Given the description of an element on the screen output the (x, y) to click on. 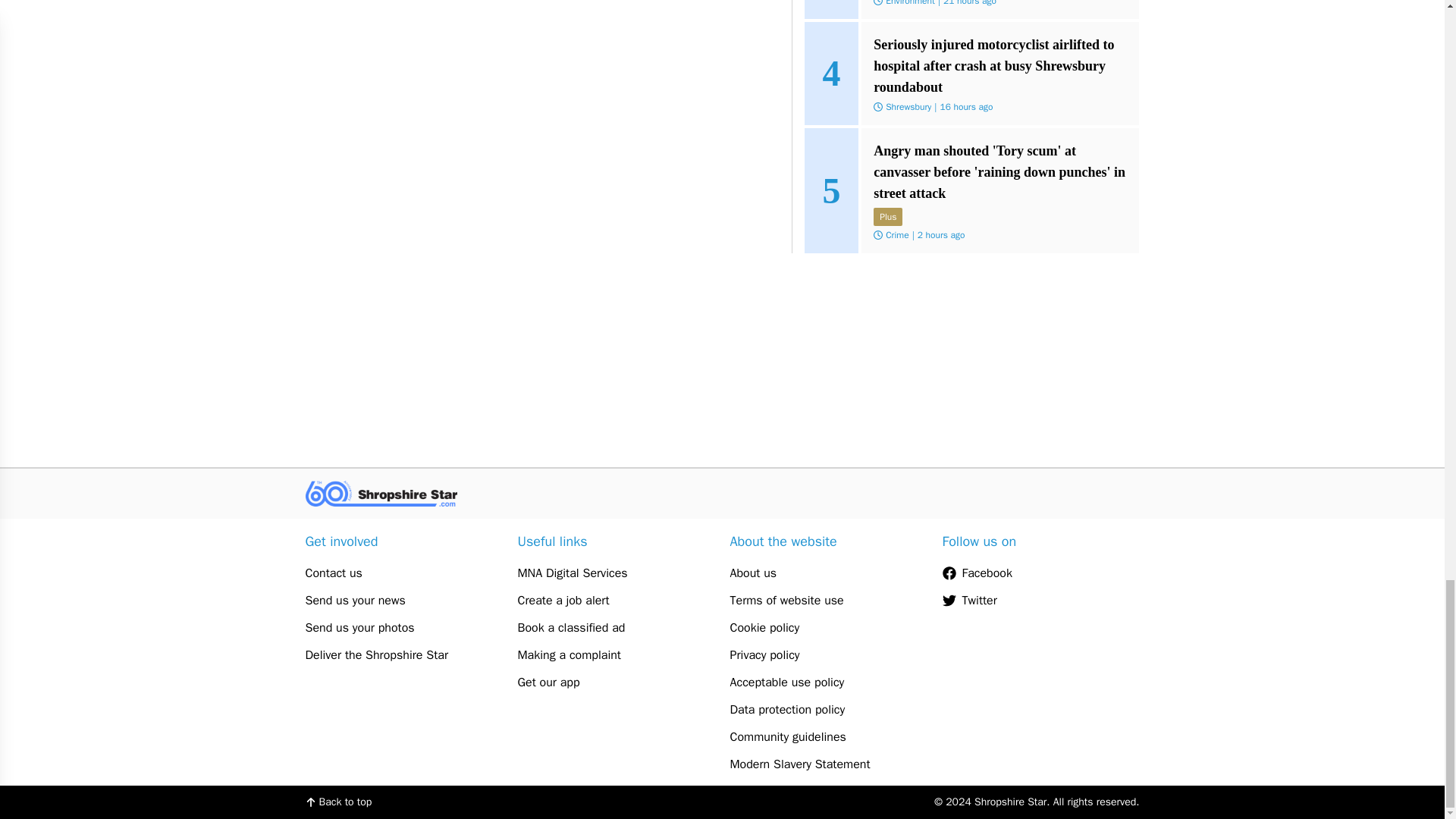
Shrewsbury (908, 106)
Environment (909, 3)
Crime (896, 234)
